Given the description of an element on the screen output the (x, y) to click on. 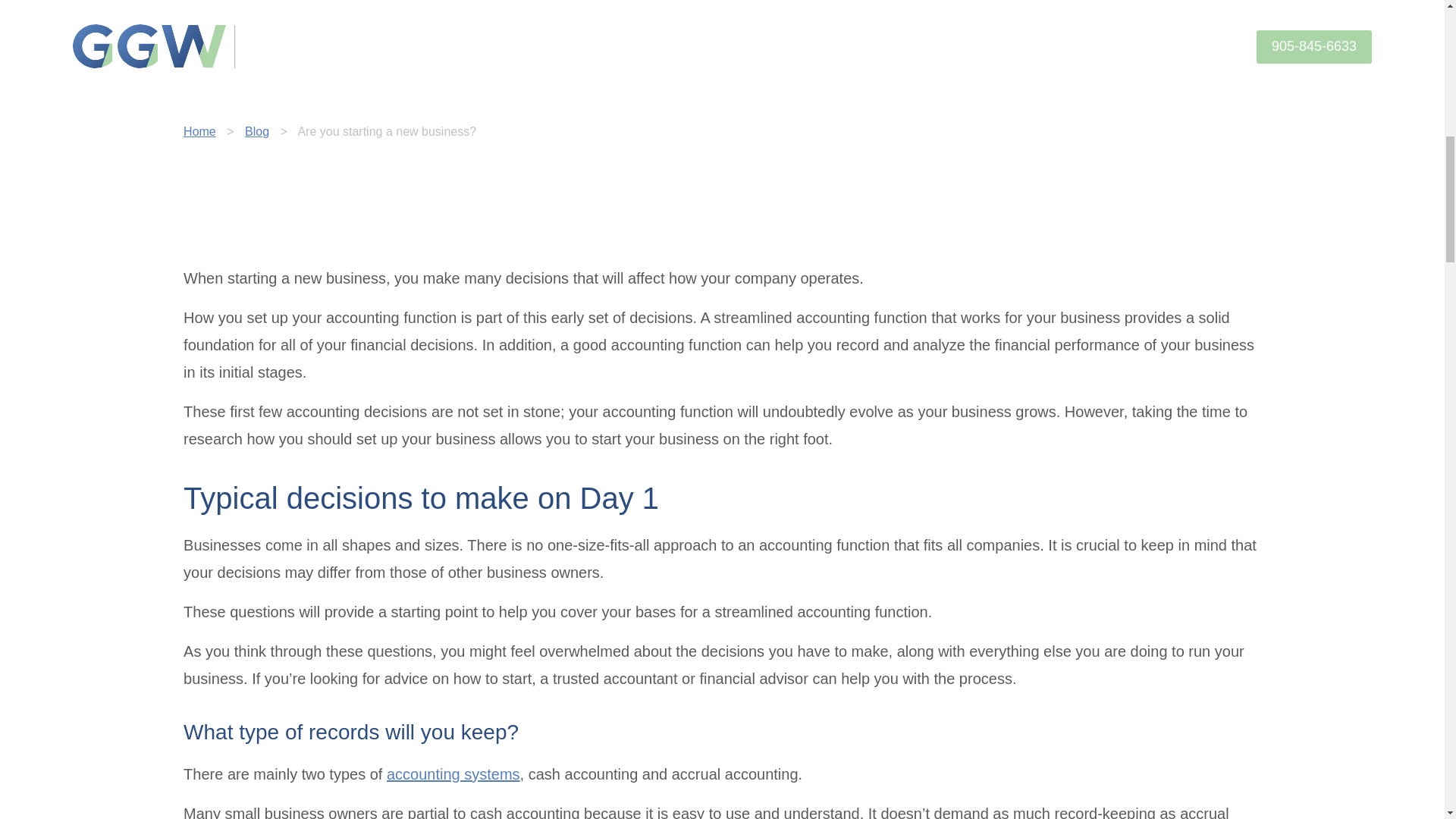
Blog (256, 131)
accounting systems (453, 773)
Home (199, 131)
